Given the description of an element on the screen output the (x, y) to click on. 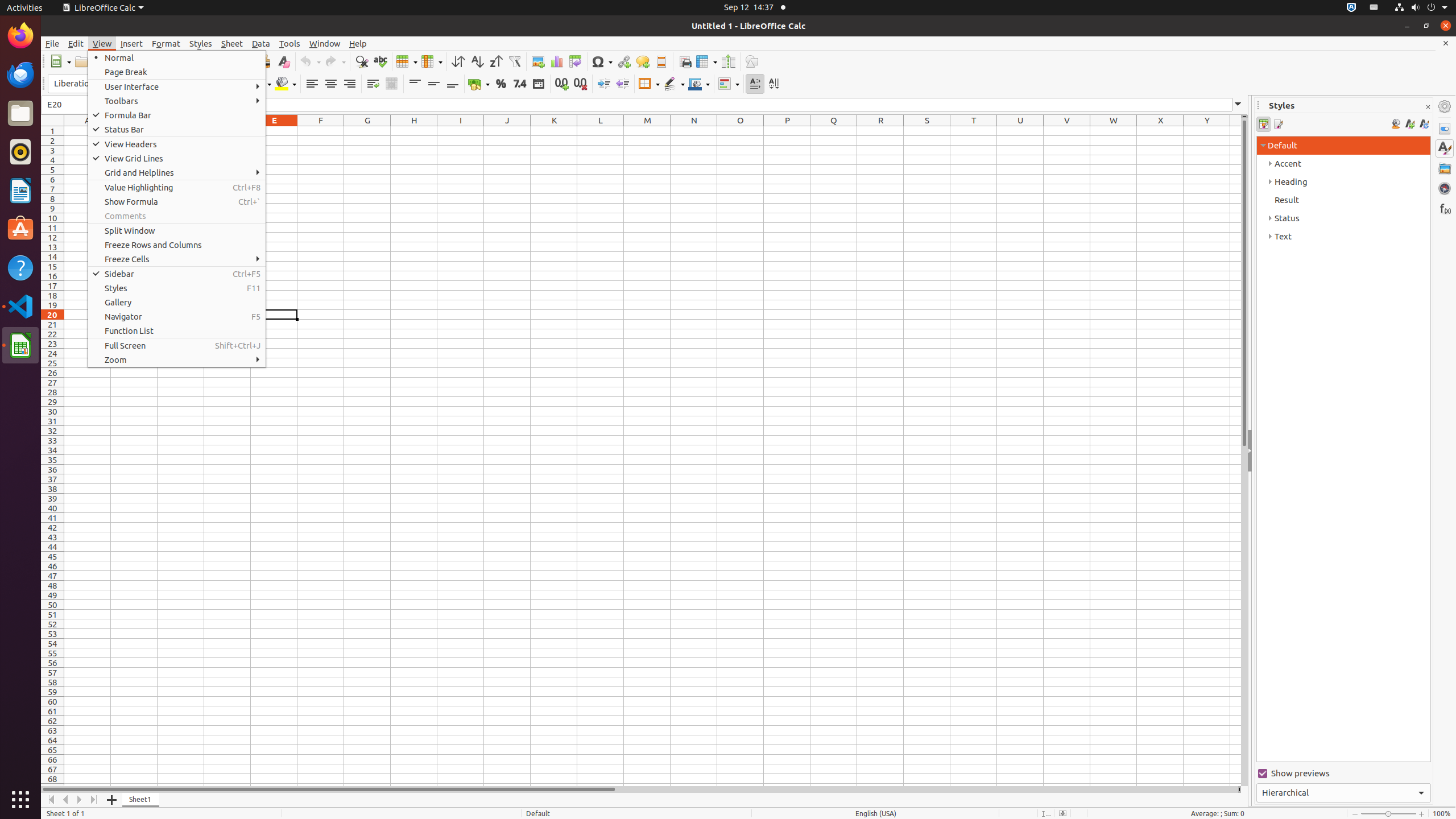
Center Vertically Element type: push-button (433, 83)
Move Right Element type: push-button (79, 799)
Symbol Element type: push-button (601, 61)
Format Element type: menu (165, 43)
Percent Element type: push-button (500, 83)
